Given the description of an element on the screen output the (x, y) to click on. 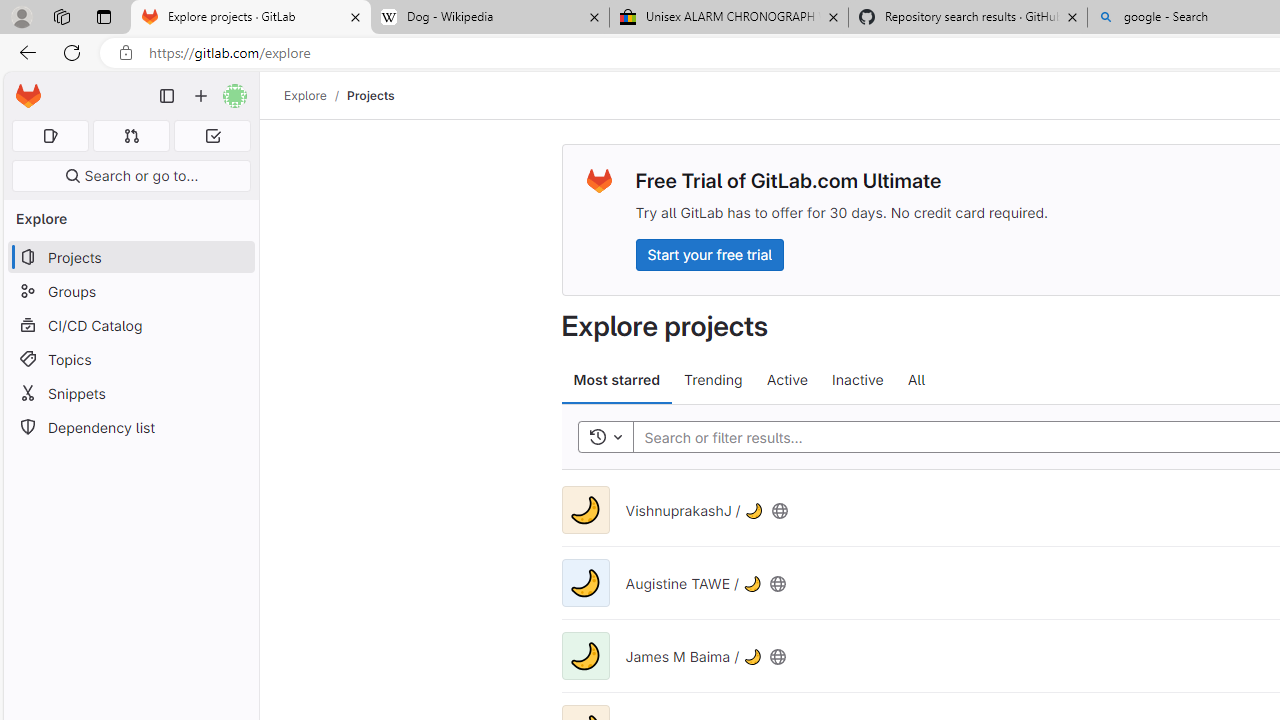
All (916, 379)
Primary navigation sidebar (167, 96)
CI/CD Catalog (130, 325)
Create new... (201, 96)
Start your free trial (709, 254)
Homepage (27, 96)
Groups (130, 291)
Skip to main content (23, 87)
Toggle history (605, 437)
Groups (130, 291)
Most starred (616, 379)
Projects (370, 95)
